Given the description of an element on the screen output the (x, y) to click on. 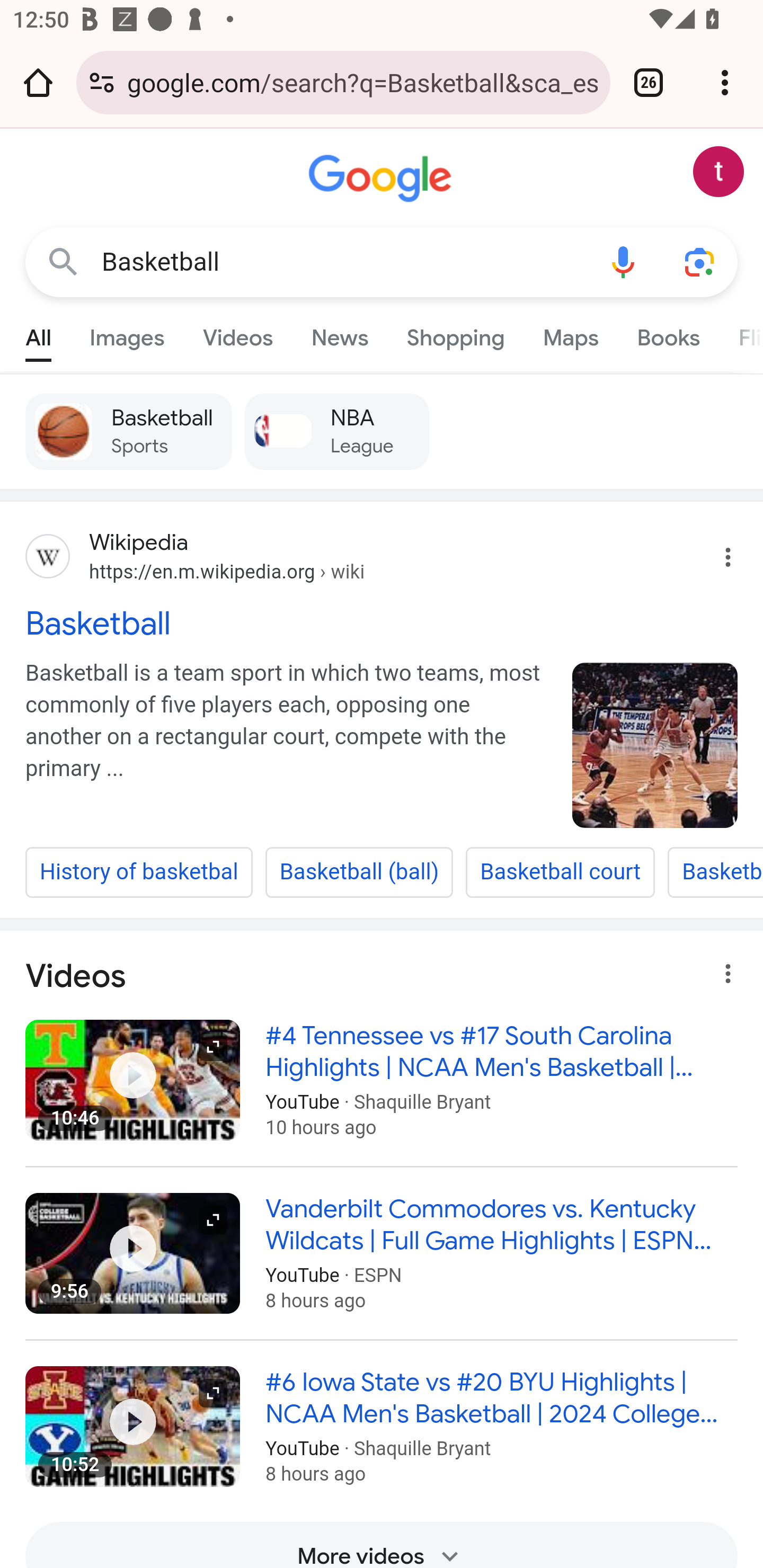
Open the home page (38, 82)
Connection is secure (101, 82)
Switch or close tabs (648, 82)
Customize and control Google Chrome (724, 82)
Google (381, 179)
Google Search (63, 262)
Search using your camera or photos (699, 262)
Basketball (343, 261)
Images (127, 333)
Videos (237, 333)
News (338, 333)
Shopping (455, 333)
Maps (570, 333)
Books (668, 333)
Basketball Sports Basketball Sports (128, 431)
NBA League NBA League (335, 431)
Basketball (381, 622)
Basketball (654, 744)
History of basketbal (138, 871)
Basketball (ball) (358, 871)
Basketball court (560, 871)
Basketball (disambiguation) (715, 871)
About this result (723, 968)
More videos (381, 1544)
